Given the description of an element on the screen output the (x, y) to click on. 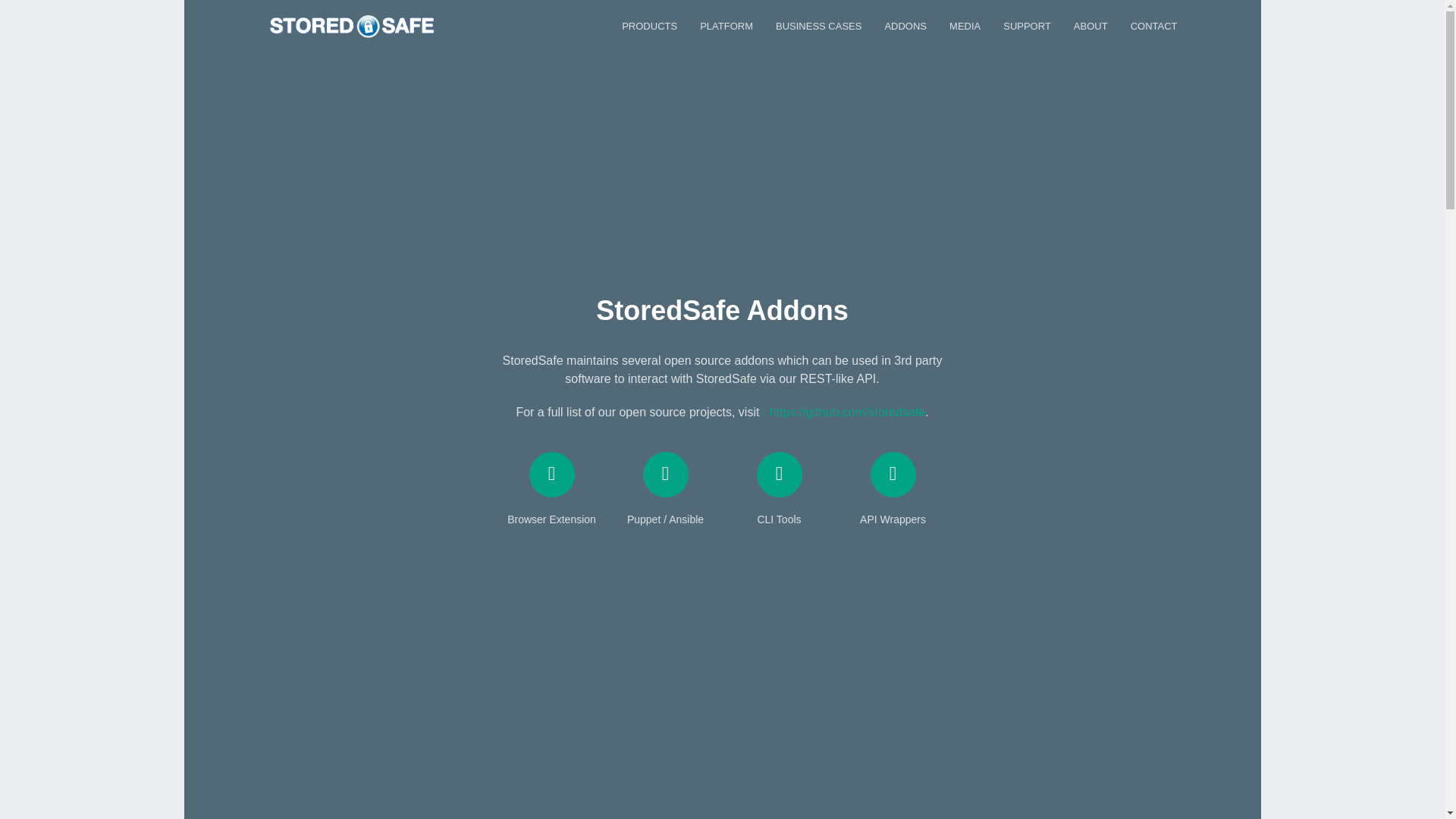
SUPPORT (1027, 26)
MEDIA (964, 26)
PLATFORM (726, 26)
CONTACT (1154, 26)
PRODUCTS (649, 26)
BUSINESS CASES (818, 26)
Browser Extension (551, 489)
ABOUT (1091, 26)
ADDONS (904, 26)
API Wrappers (893, 489)
CLI Tools (779, 489)
